Given the description of an element on the screen output the (x, y) to click on. 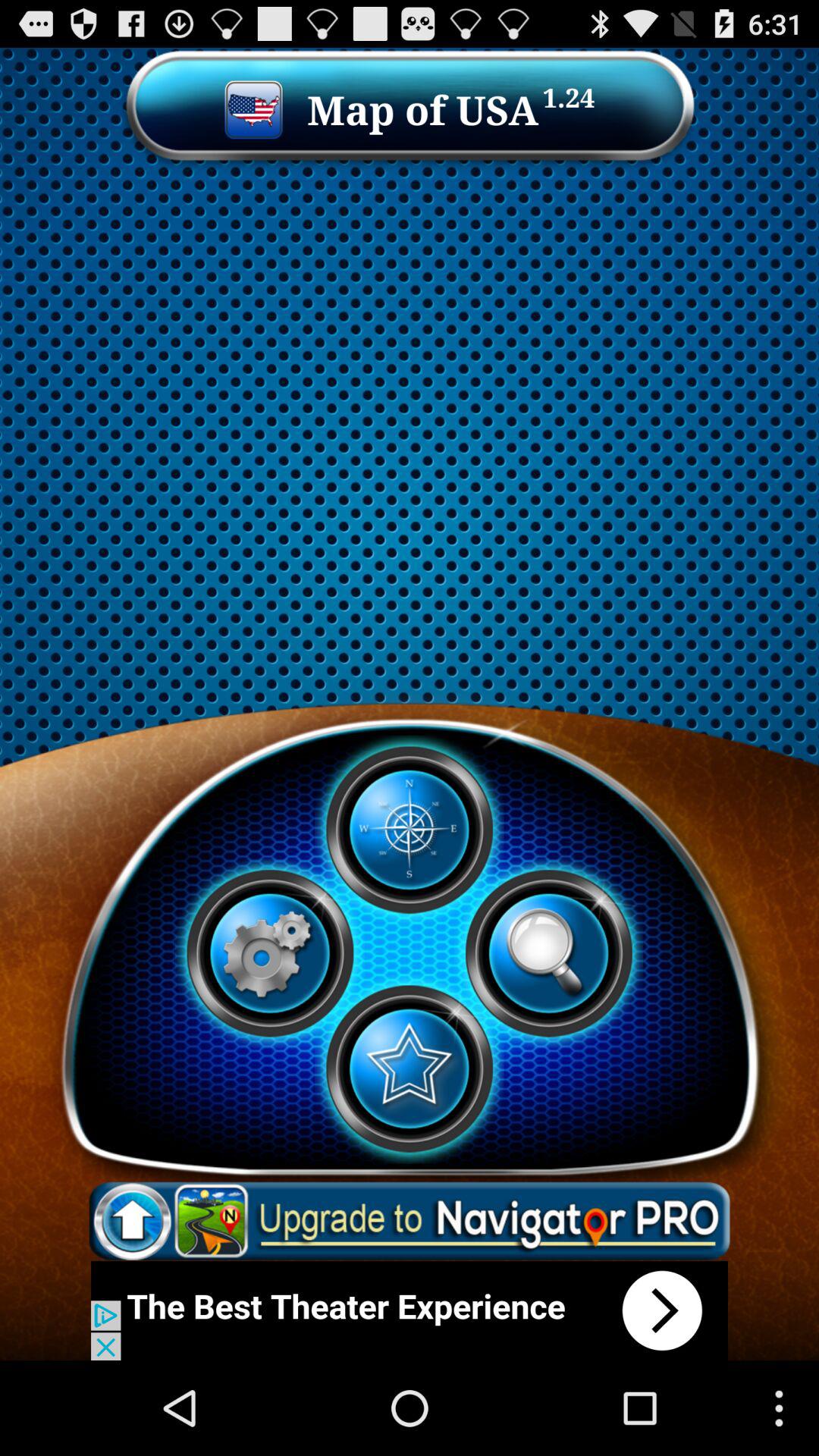
selct the button (408, 1068)
